Given the description of an element on the screen output the (x, y) to click on. 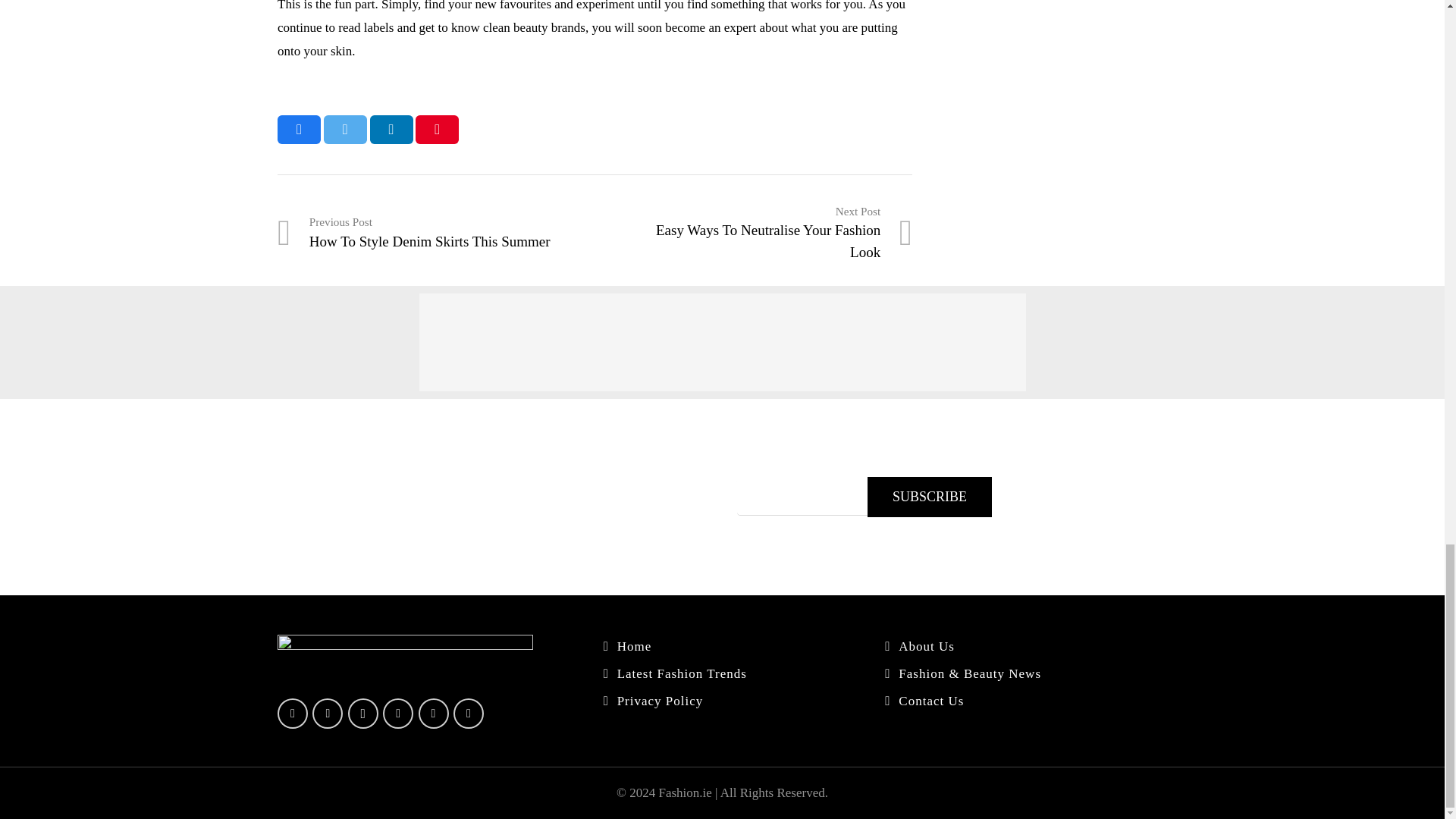
Share this (391, 129)
Twitter (327, 713)
Easy Ways To Neutralise Your Fashion Look (753, 233)
Subscribe (753, 233)
How To Style Denim Skirts This Summer (929, 496)
Share this (436, 233)
Tweet this (436, 233)
Facebook (299, 129)
